Given the description of an element on the screen output the (x, y) to click on. 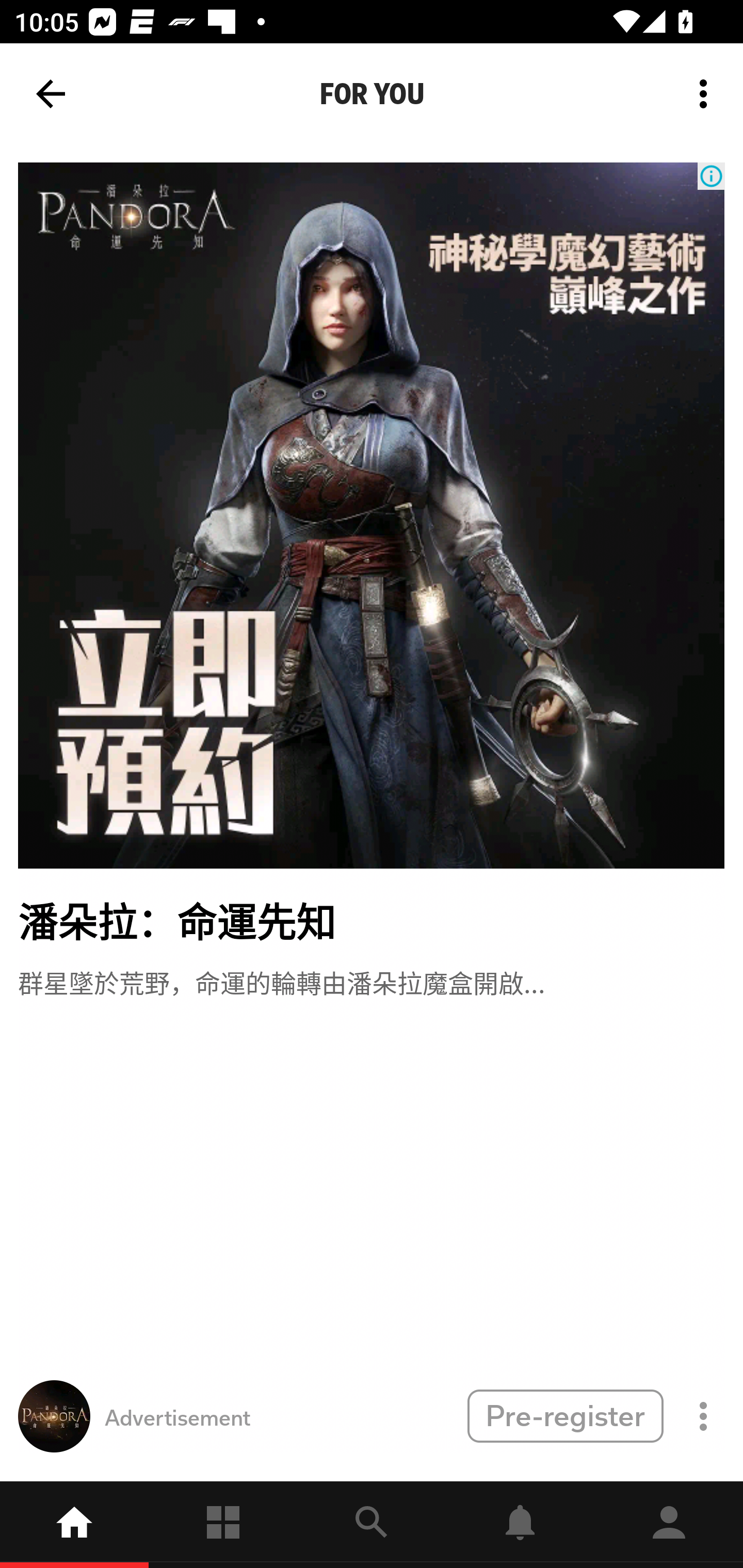
Back (50, 93)
FOR YOU (371, 93)
More options (706, 93)
Ad Choices Icon (711, 176)
群星墜於荒野，命運的輪轉由潘朵拉魔盒開啟... (281, 981)
Pre-register (565, 1415)
home (74, 1524)
Following (222, 1524)
explore (371, 1524)
Notifications (519, 1524)
Profile (668, 1524)
